Given the description of an element on the screen output the (x, y) to click on. 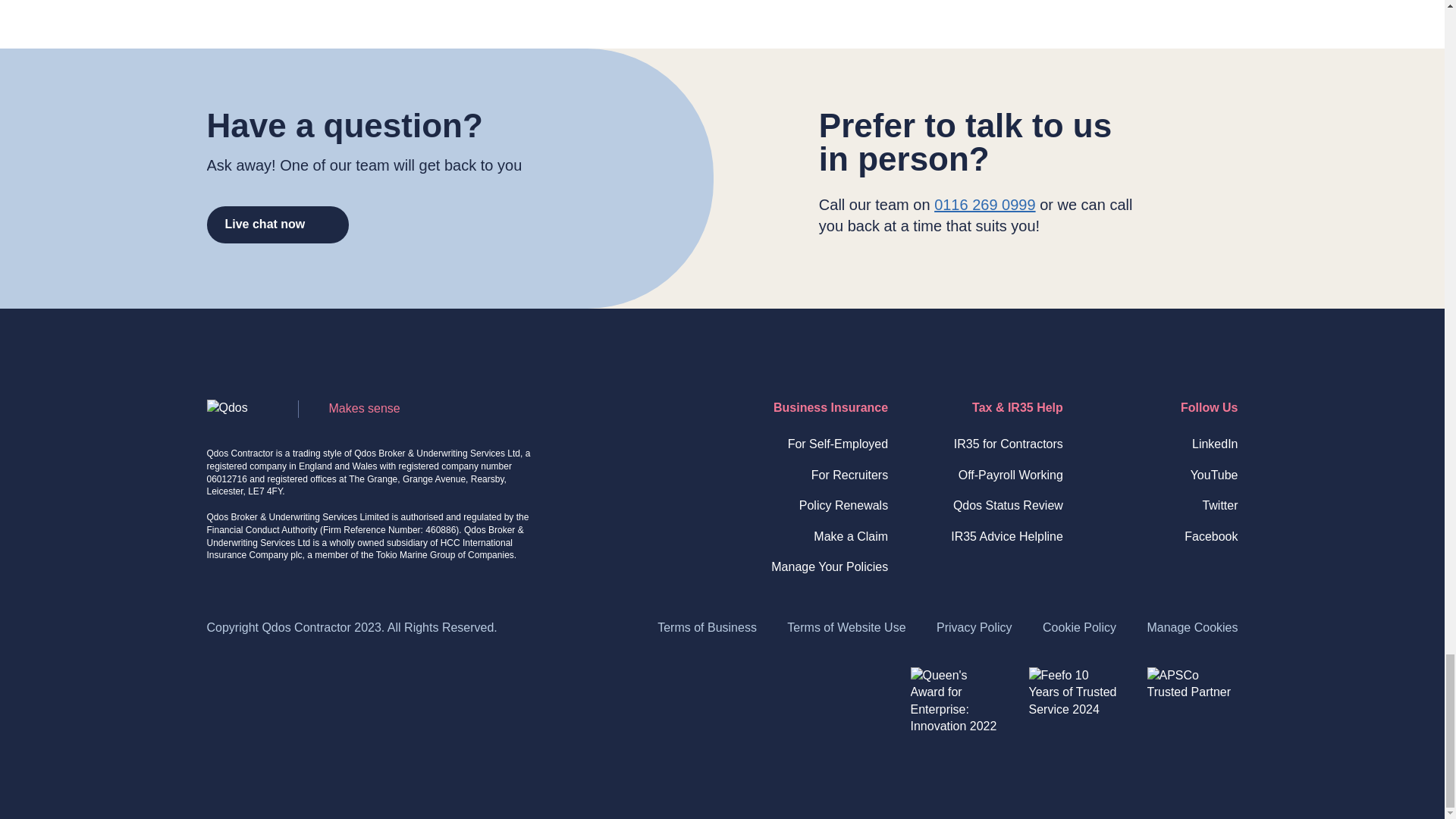
Feefo - 10 Years of Trusted Service 2024 (1073, 712)
Privacy Policy (973, 626)
Terms of Website Use (846, 626)
Terms of Business (707, 626)
Call 0116 269 0999 (984, 204)
Cookie Policy (1079, 626)
